Given the description of an element on the screen output the (x, y) to click on. 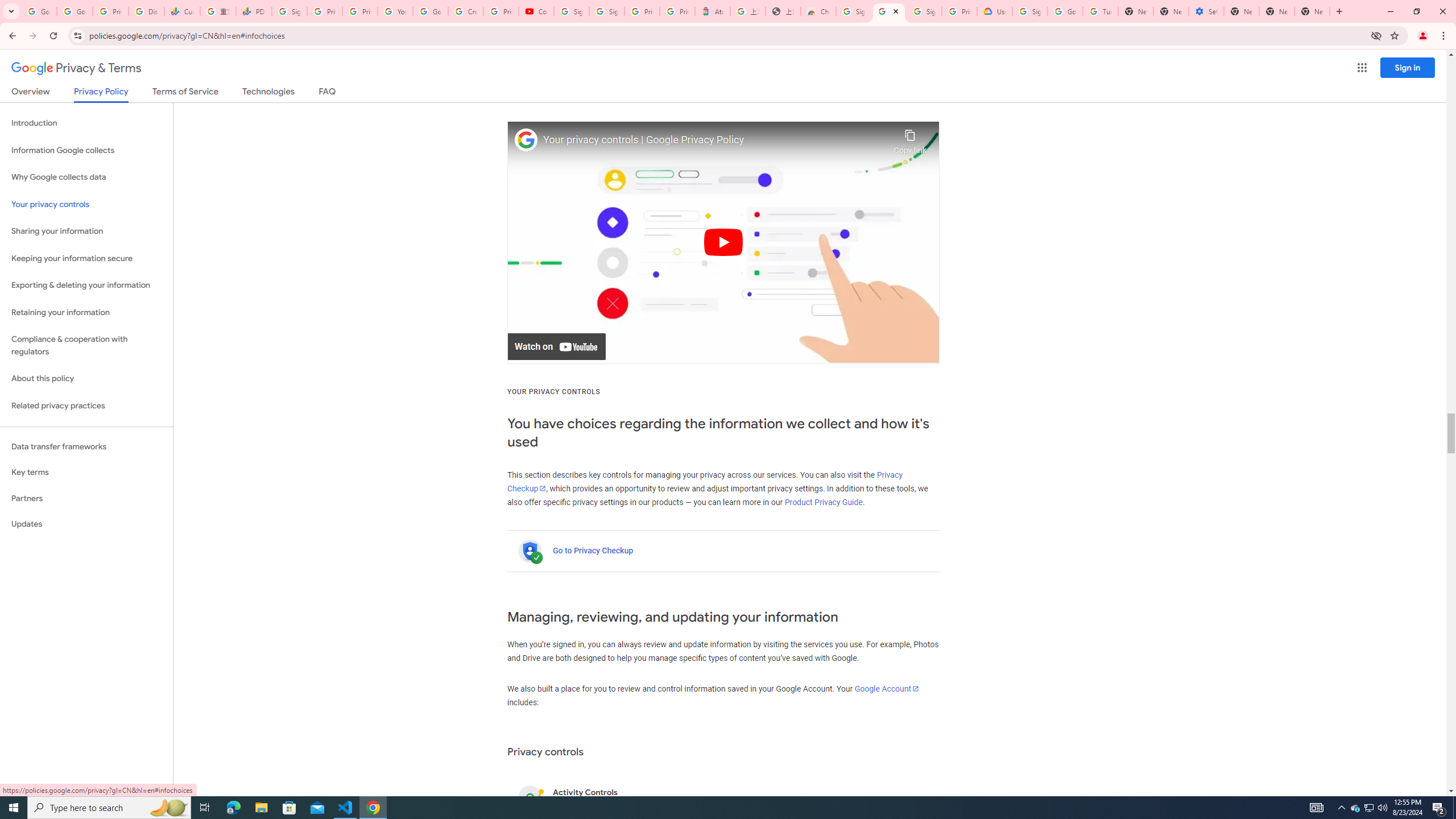
Information Google collects (86, 150)
Keeping your information secure (86, 258)
New Tab (1135, 11)
Compliance & cooperation with regulators (86, 345)
Sign in - Google Accounts (571, 11)
Google Account (887, 688)
Turn cookies on or off - Computer - Google Account Help (1099, 11)
